Given the description of an element on the screen output the (x, y) to click on. 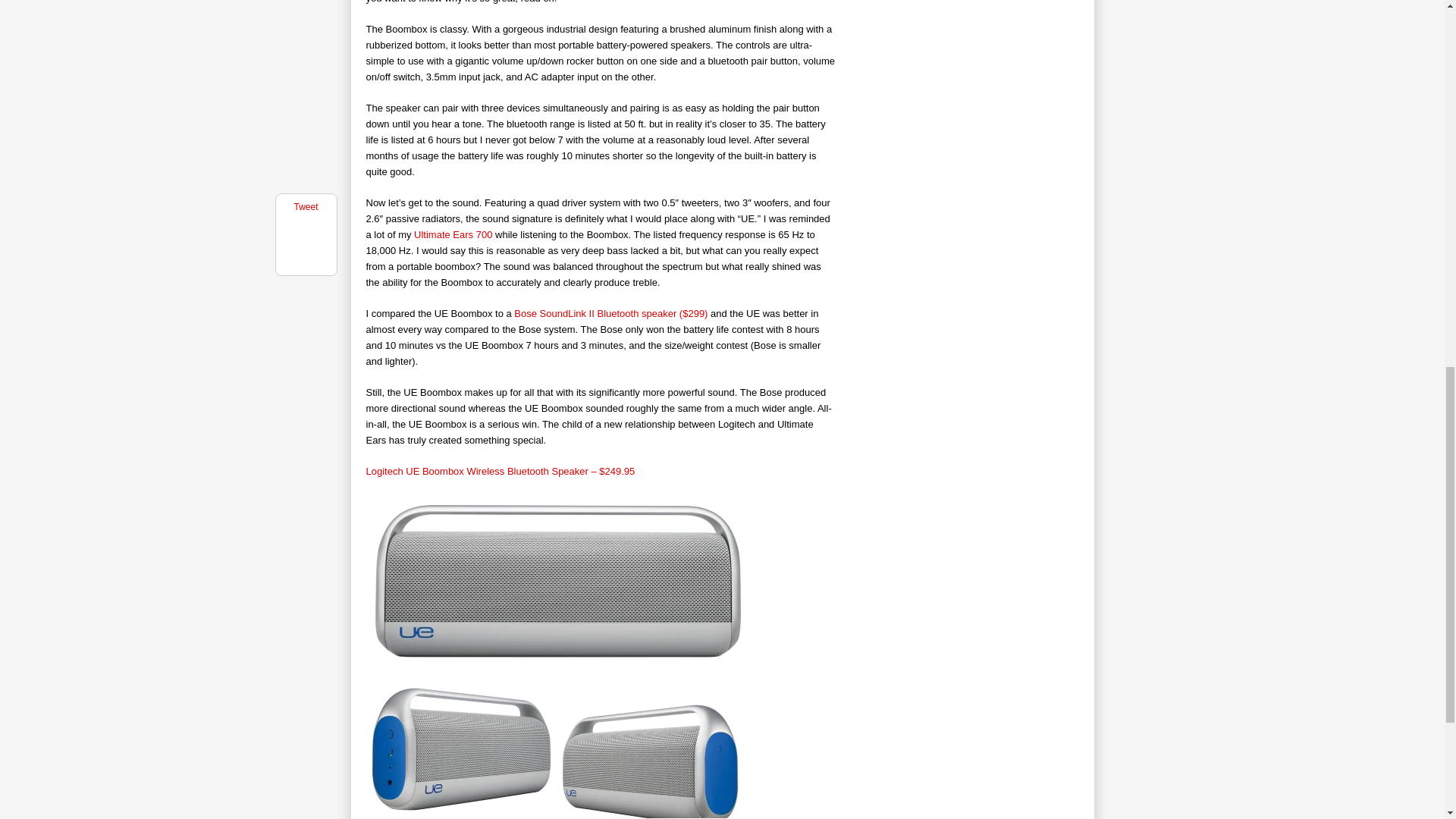
Ultimate Ears 700 (452, 234)
Logitech UE Boombox Right Front (650, 759)
Logitech UE Boombox Front (554, 581)
Logitech UE Boombox Front Left (459, 750)
